Given the description of an element on the screen output the (x, y) to click on. 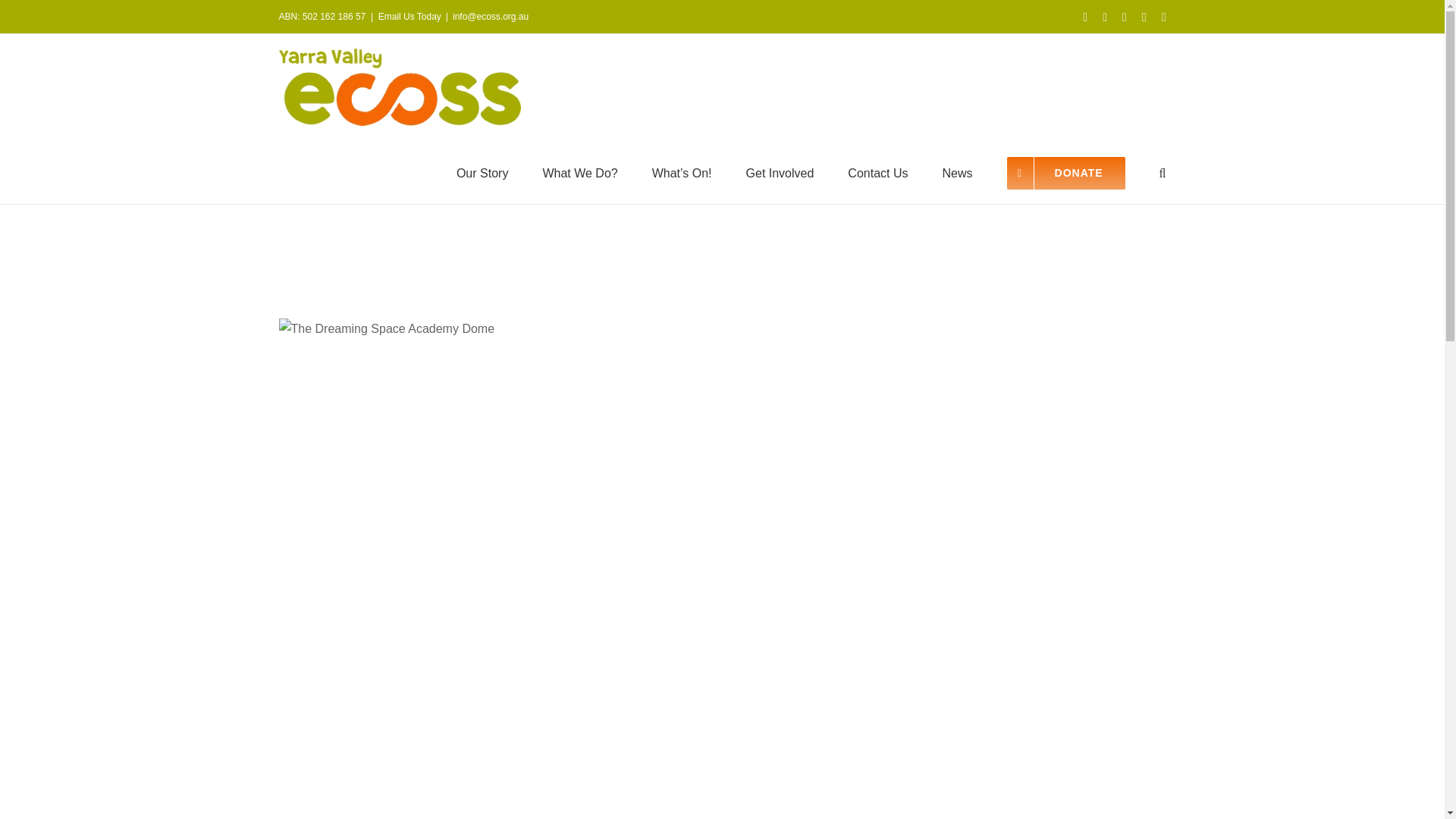
Facebook (1085, 16)
Our Story (482, 171)
Search (1162, 171)
YouTube (1124, 16)
Email (1163, 16)
Facebook (1085, 16)
YouTube (1124, 16)
Twitter (1104, 16)
Instagram (1144, 16)
Twitter (1104, 16)
What We Do? (579, 171)
Instagram (1144, 16)
Get Involved (779, 171)
Email (1163, 16)
